Given the description of an element on the screen output the (x, y) to click on. 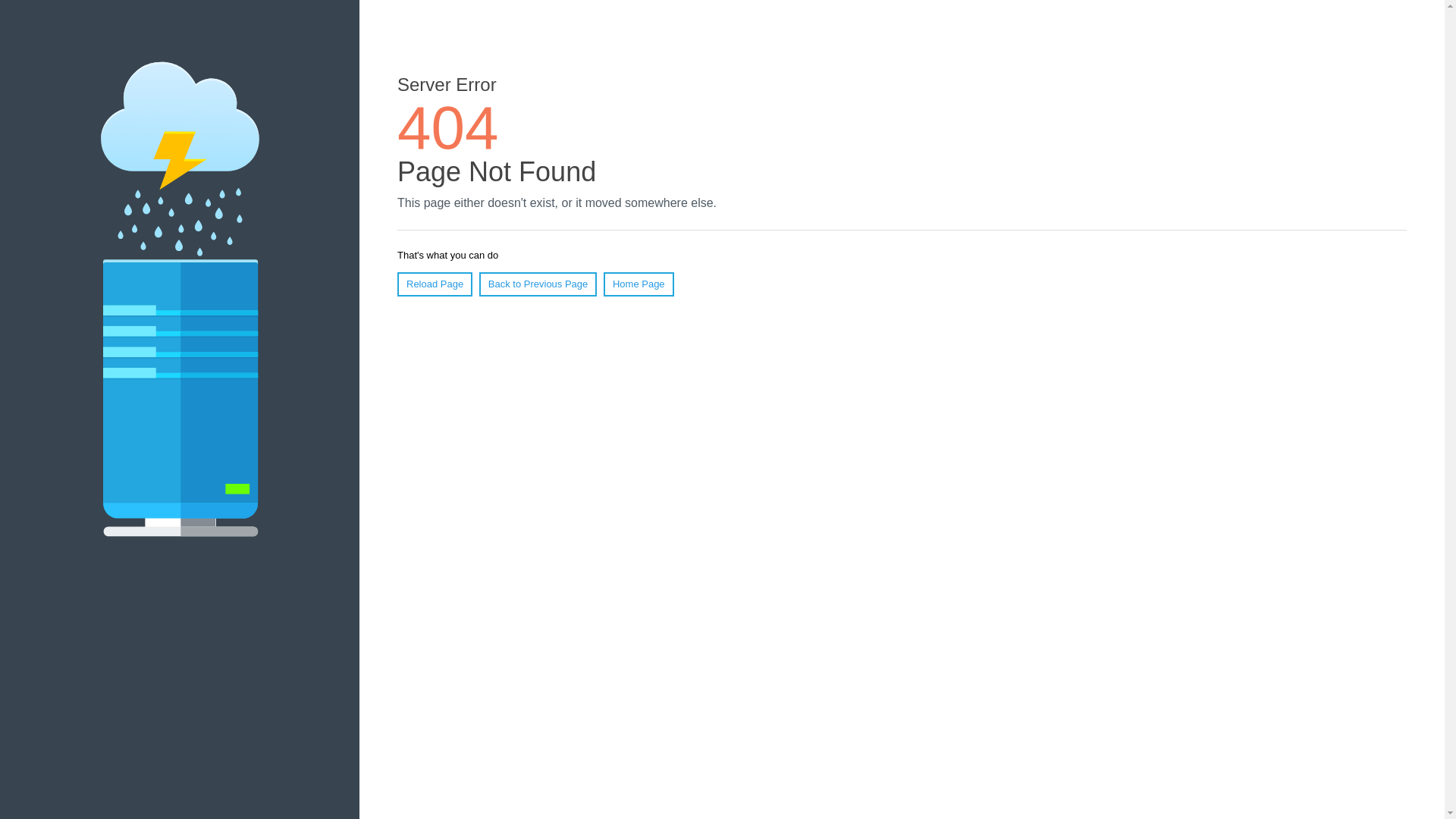
Home Page Element type: text (638, 284)
Back to Previous Page Element type: text (538, 284)
Reload Page Element type: text (434, 284)
